Given the description of an element on the screen output the (x, y) to click on. 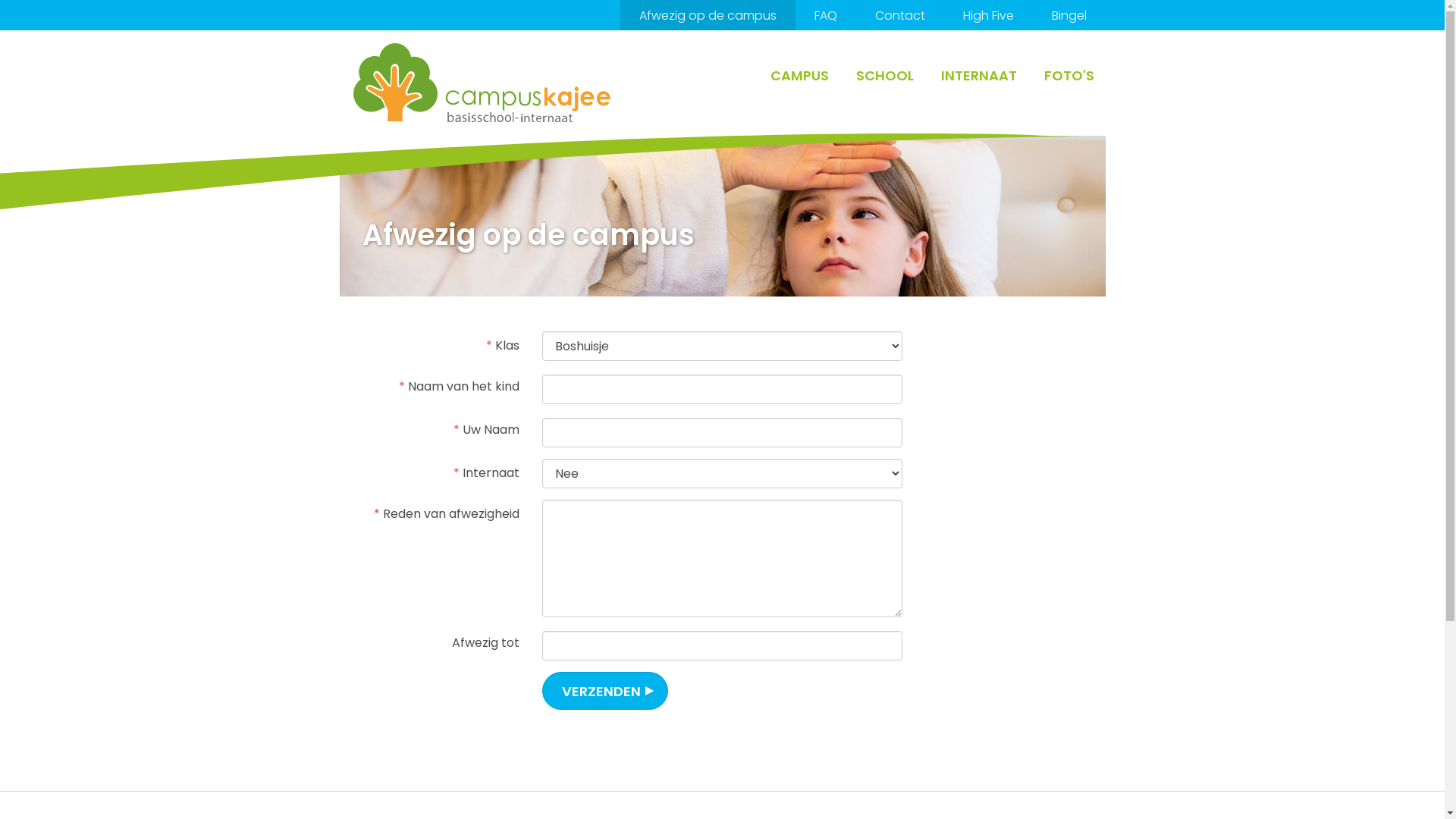
CAMPUS Element type: text (799, 75)
High Five Element type: text (987, 15)
VERZENDEN Element type: text (605, 690)
Contact Element type: text (899, 15)
FOTO'S Element type: text (1066, 75)
Afwezig op de campus Element type: text (707, 15)
Bingel Element type: text (1068, 15)
INTERNAAT Element type: text (977, 75)
SCHOOL Element type: text (883, 75)
FAQ Element type: text (824, 15)
